Given the description of an element on the screen output the (x, y) to click on. 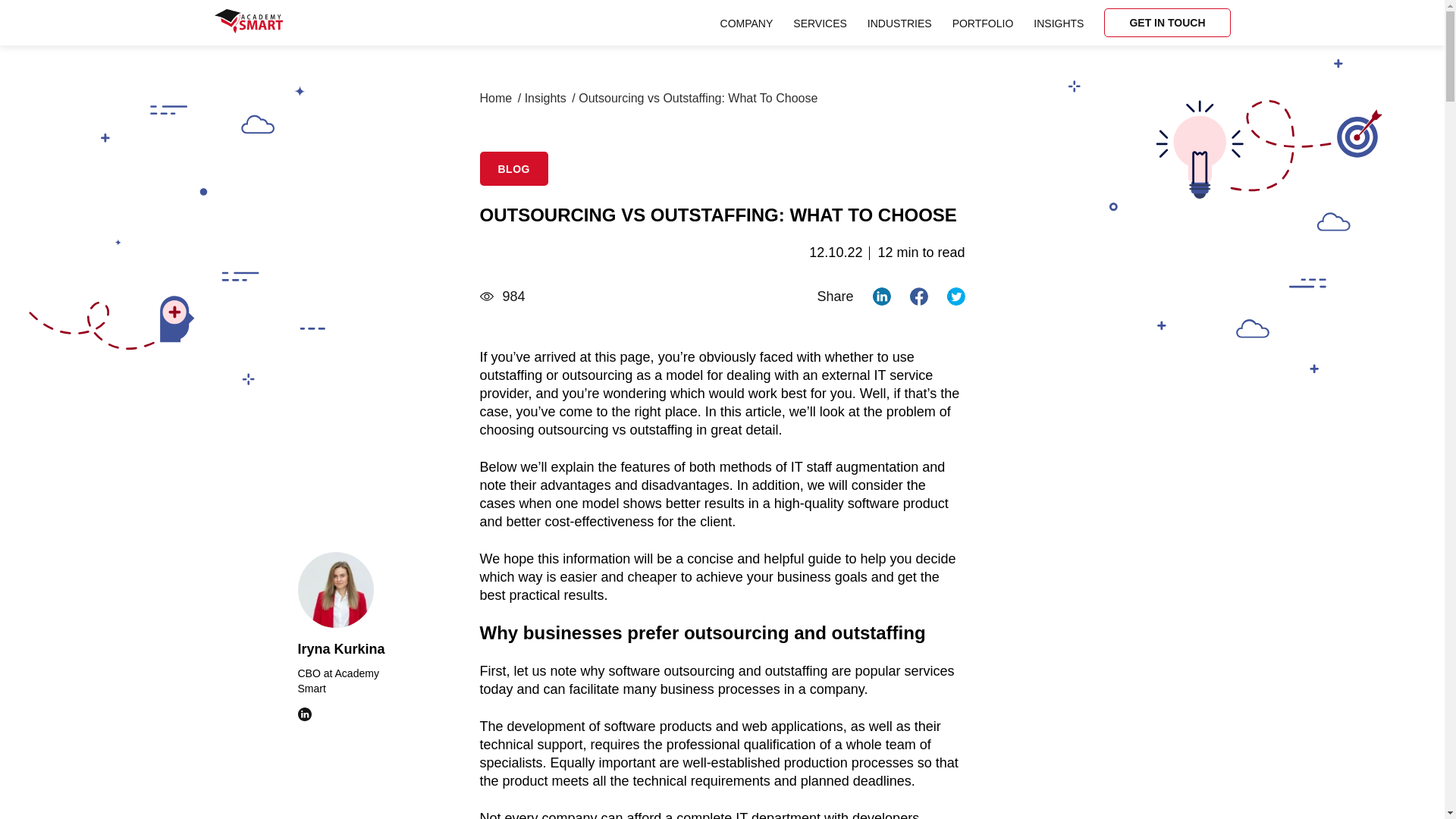
SERVICES (820, 22)
INDUSTRIES (899, 22)
BLOG (513, 168)
Insights (545, 98)
PORTFOLIO (982, 22)
COMPANY (746, 22)
GET IN TOUCH (1166, 22)
INSIGHTS (1058, 22)
Iryna Kurkina (350, 648)
Home (495, 98)
Share on LinkedIn (880, 296)
Share on Twitter (954, 296)
Share on Facebook (919, 296)
Academy SMART (248, 22)
